Given the description of an element on the screen output the (x, y) to click on. 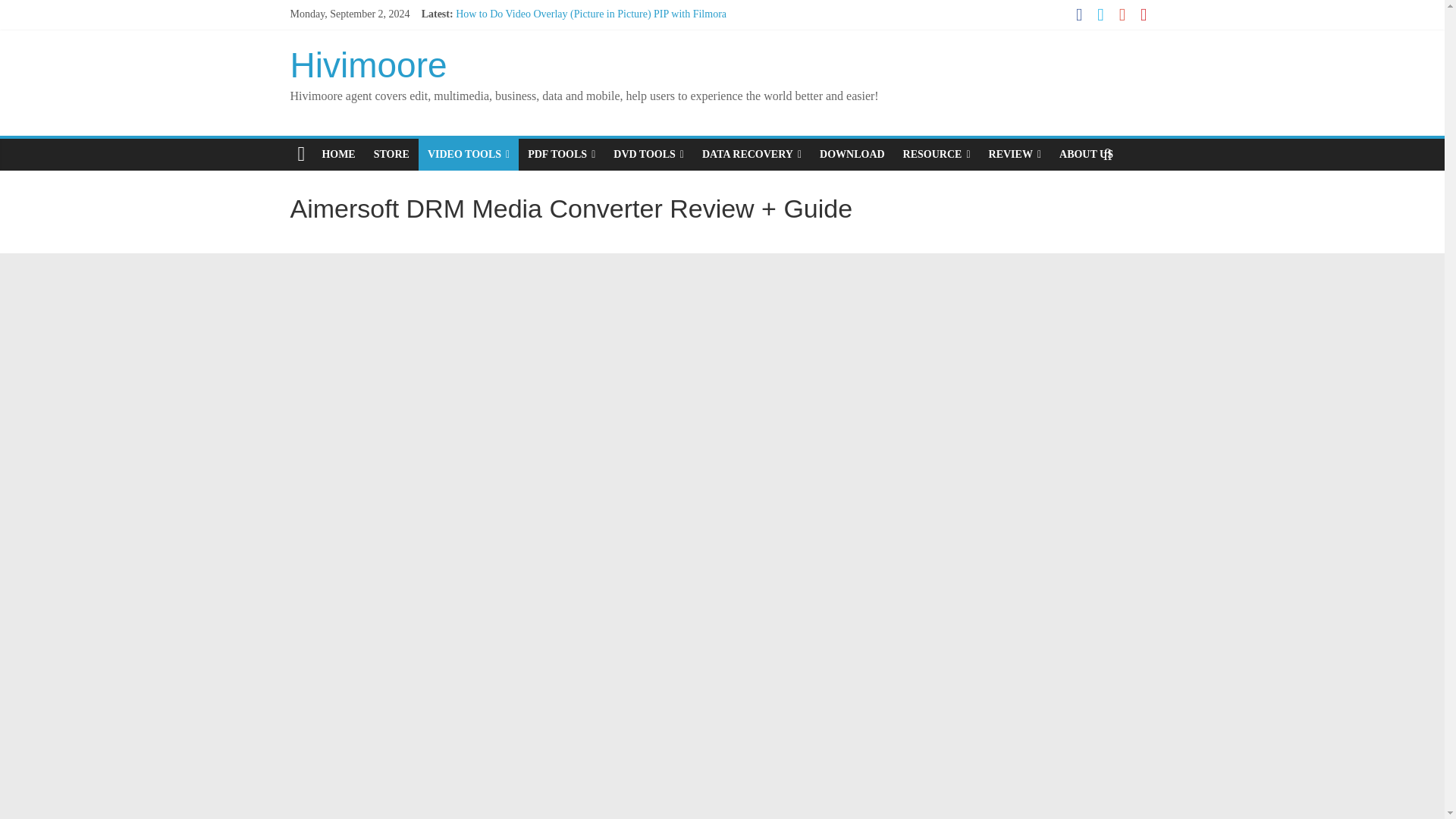
DATA RECOVERY (751, 154)
How to Mask and Blend Video Using Filmora? (555, 30)
How to Mask and Blend Video Using Filmora? (555, 30)
STORE (392, 154)
PDF TOOLS (561, 154)
HOME (338, 154)
Hivimoore (367, 65)
Make Your Own Animation Using Keyframing with Filmora (584, 48)
